Given the description of an element on the screen output the (x, y) to click on. 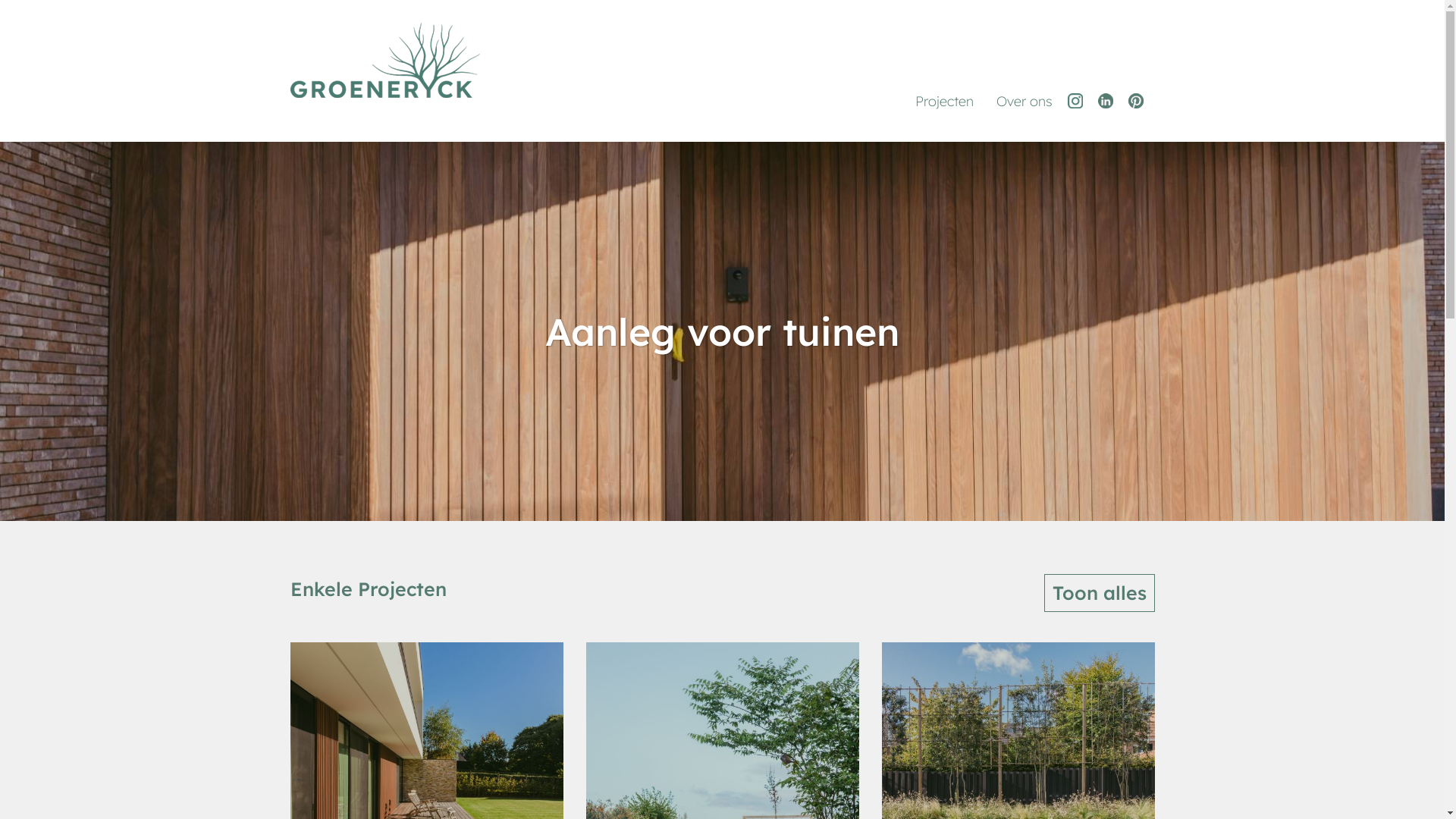
Toon alles Element type: text (1098, 592)
Groeneryck Element type: text (499, 59)
Pinterest Element type: text (1139, 100)
Projecten Element type: text (944, 100)
LinkedIn Element type: text (1109, 100)
Over ons Element type: text (1023, 100)
Instagram Element type: text (1078, 100)
